Given the description of an element on the screen output the (x, y) to click on. 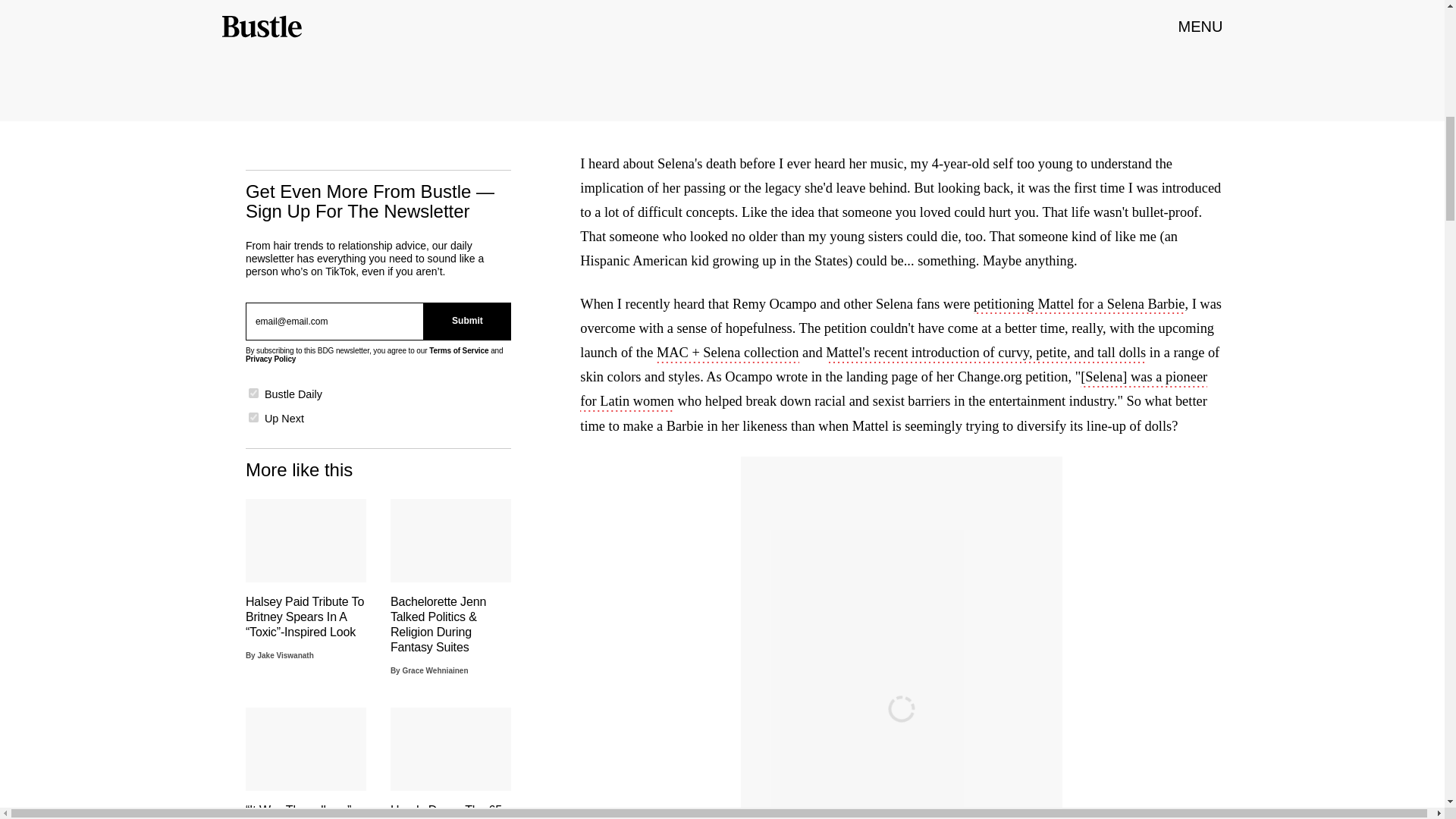
petitioning Mattel for a Selena Barbie (1079, 305)
Terms of Service (458, 350)
Privacy Policy (270, 358)
Submit (467, 321)
